Given the description of an element on the screen output the (x, y) to click on. 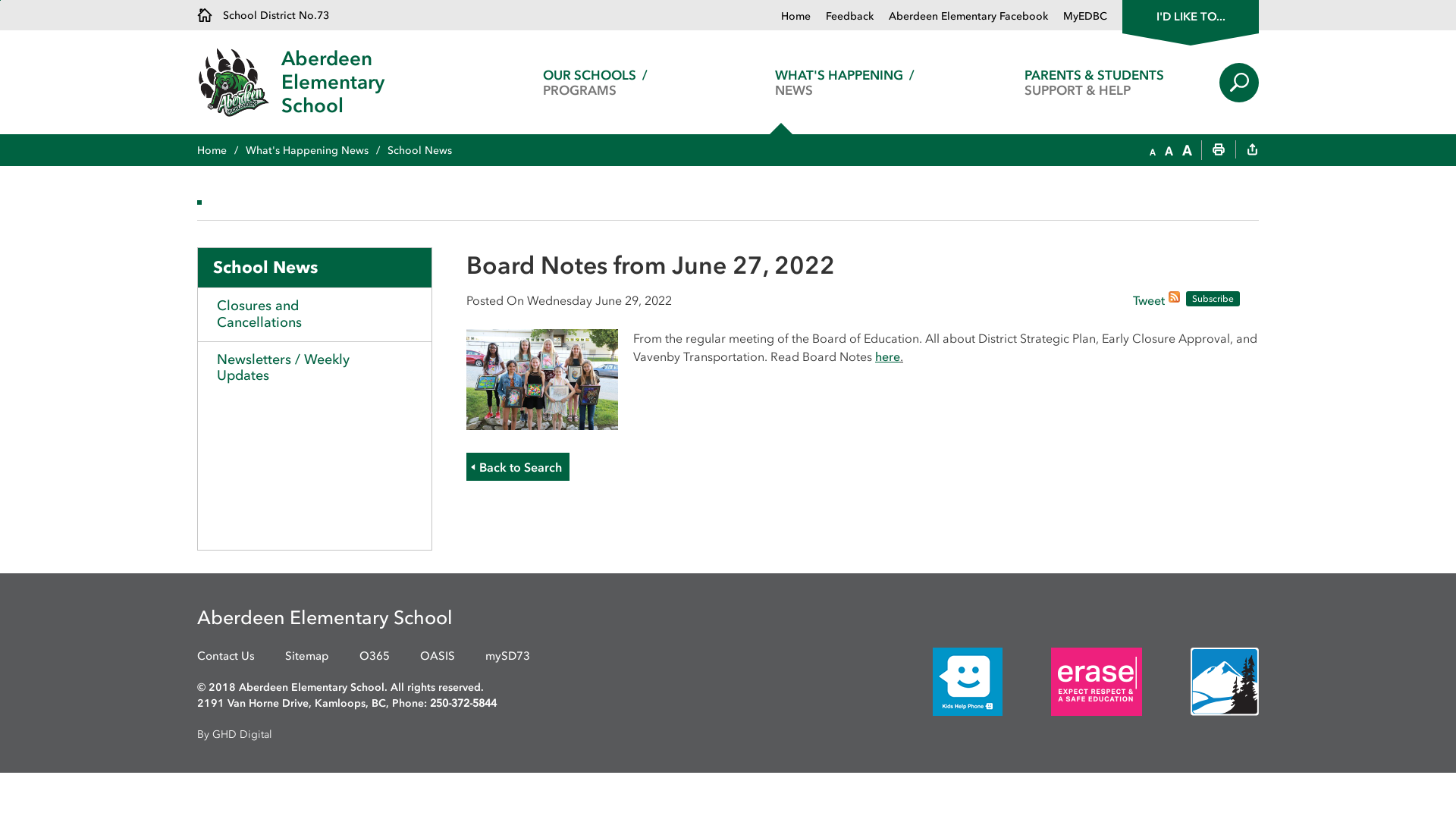
Home Element type: text (795, 15)
Subscribe Element type: text (1212, 298)
Back to Search Element type: text (517, 466)
Skip to Content Element type: text (0, 0)
I'D LIKE TO... Element type: text (1190, 15)
What's Happening News Element type: text (316, 150)
Expect Respect and a Safe Education Element type: hover (1096, 681)
here Element type: text (887, 356)
Search Element type: text (1238, 81)
Newsletters / Weekly Updates Element type: text (314, 367)
Default text size Element type: hover (1168, 150)
OASIS Element type: text (437, 656)
Aberdeen Elementary
School Element type: text (375, 82)
Aberdeen Elementary Facebook Element type: text (960, 15)
O365 Element type: text (374, 656)
By GHD Digital Element type: text (727, 734)
Contact Us Element type: text (225, 656)
Print This Page Element type: hover (1218, 150)
PARENTS & STUDENTS
SUPPORT & HELP Element type: text (1094, 82)
OUR SCHOOLS
PROGRAMS Element type: text (594, 82)
Decrease text size Element type: hover (1152, 150)
Home Element type: text (221, 150)
School News Element type: text (314, 267)
Open new window to view Kids Help Phone Element type: hover (944, 680)
Closures and Cancellations Element type: text (314, 313)
facebook like button Element type: hover (1093, 299)
  Element type: text (1251, 150)
Sitemap Element type: text (307, 656)
Increase text size Element type: hover (1187, 150)
WHAT'S HAPPENING
NEWS Element type: text (844, 82)
MyEDBC Element type: text (1077, 15)
mySD73 Element type: text (507, 656)
Board Notes Element type: hover (542, 377)
School District No.73 Element type: text (263, 15)
Feedback Element type: text (841, 15)
Click to return to the homepage Element type: hover (239, 82)
Tweet Element type: text (1148, 301)
250-372-5844 Element type: text (462, 702)
